Given the description of an element on the screen output the (x, y) to click on. 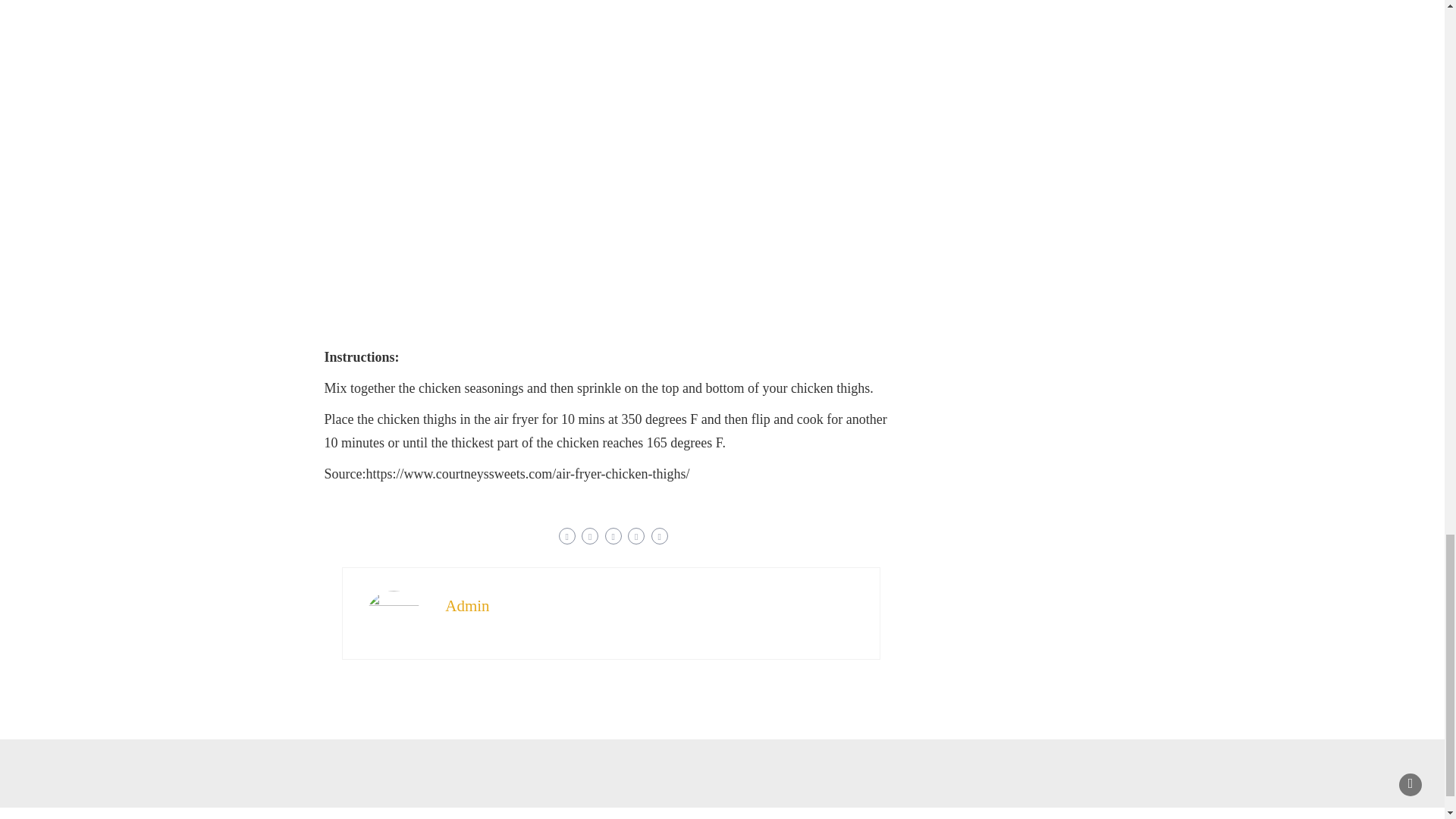
Admin (467, 606)
